Given the description of an element on the screen output the (x, y) to click on. 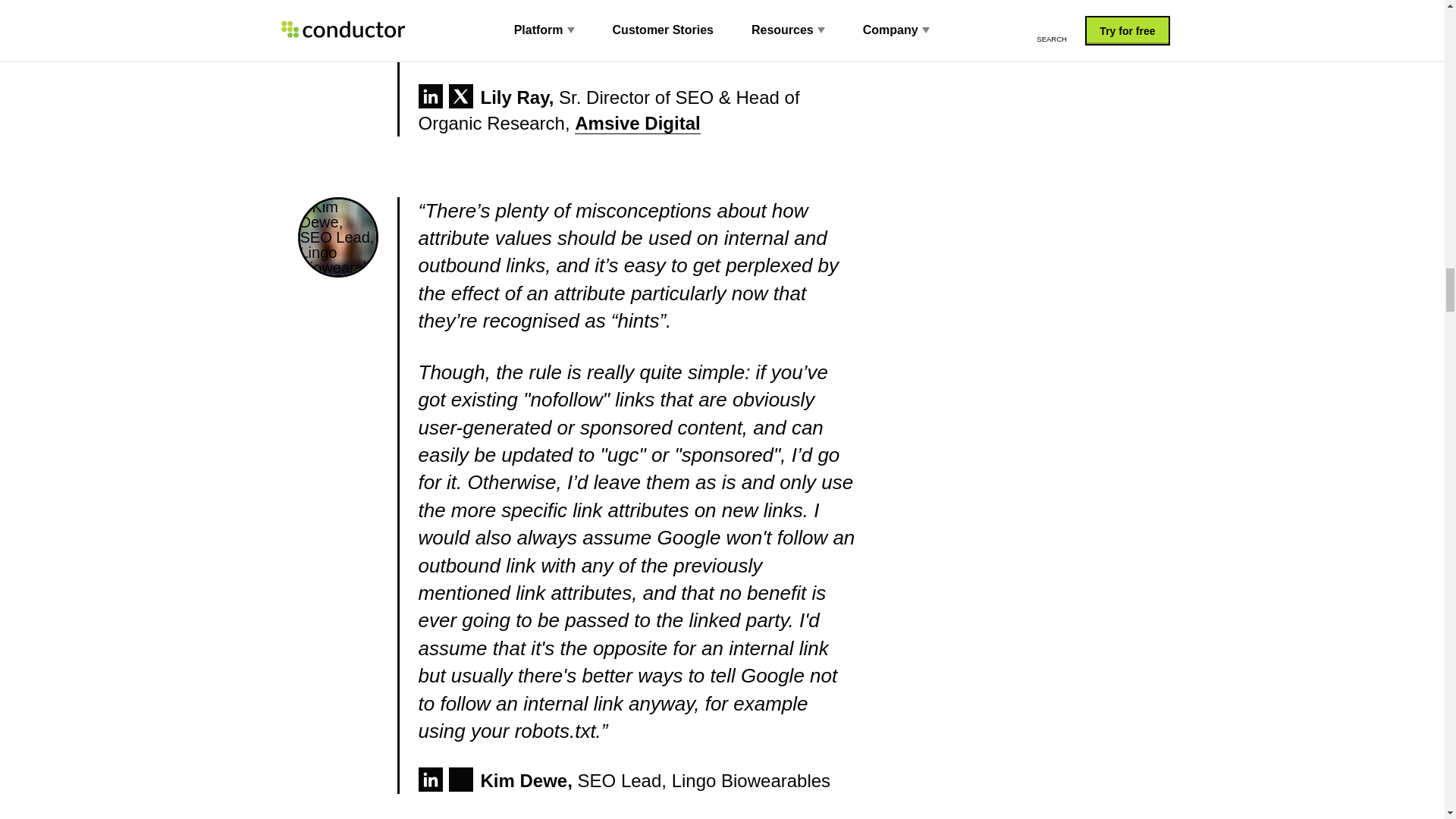
LinkedIn (430, 96)
Custom link (460, 779)
LinkedIn (430, 779)
X (460, 96)
